Given the description of an element on the screen output the (x, y) to click on. 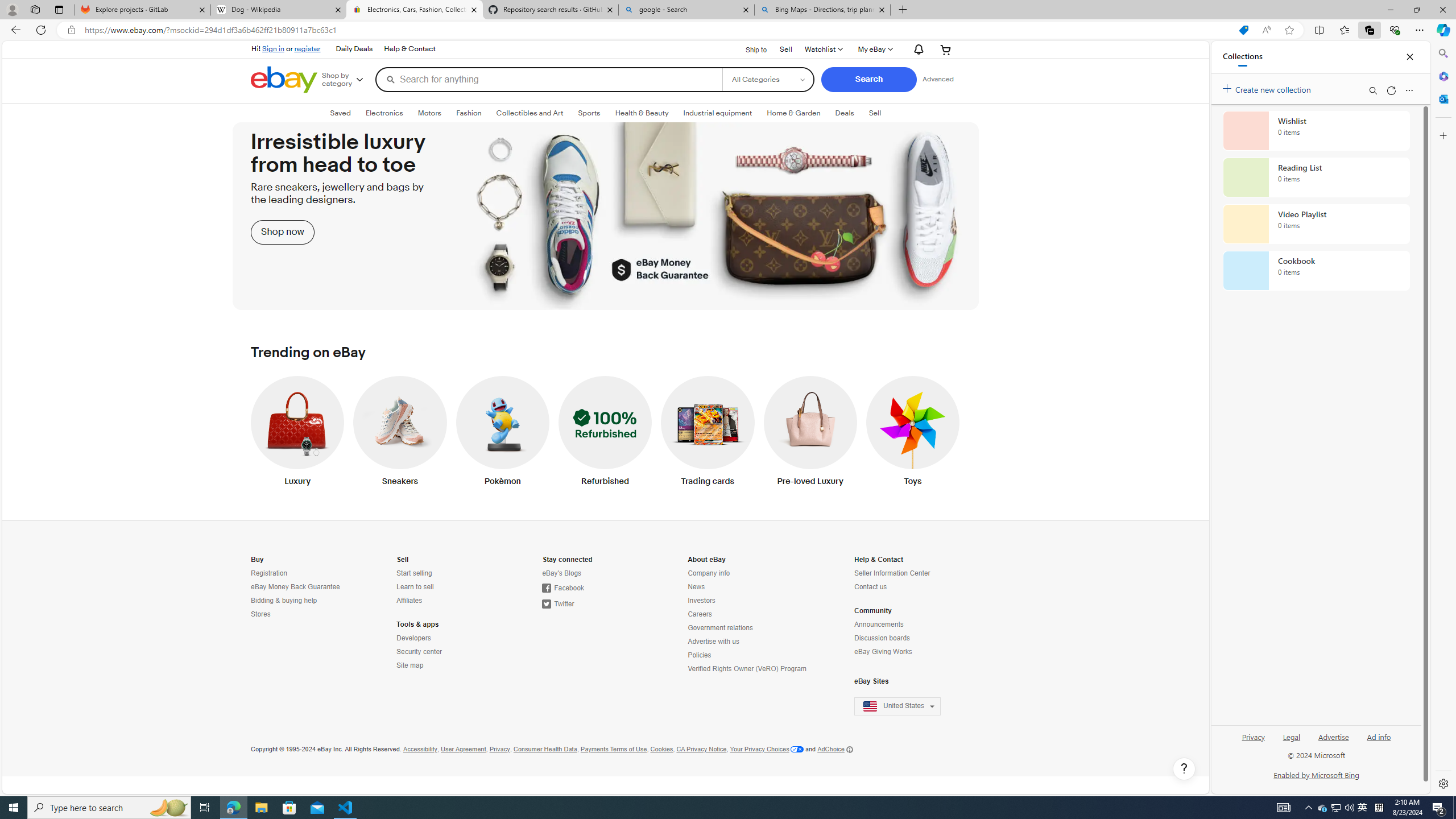
Cookies (660, 749)
AdChoice (834, 749)
Watchlist (822, 49)
Refurbished (604, 433)
Careers (748, 614)
Dog - Wikipedia (277, 9)
Site map (409, 665)
Seller Information Center (904, 573)
Advertise with us (713, 641)
SportsExpand: Sports (589, 112)
